Given the description of an element on the screen output the (x, y) to click on. 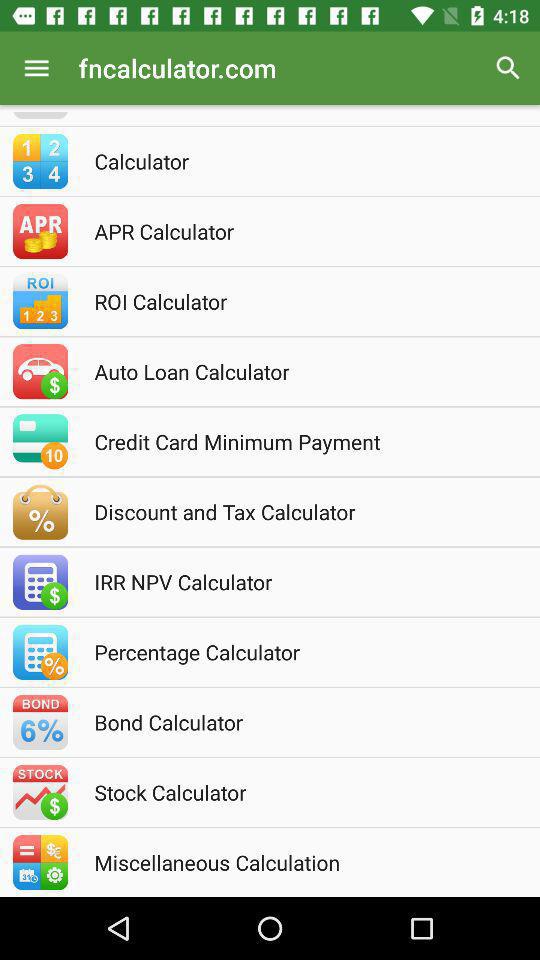
choose the item above the calculator icon (508, 67)
